Given the description of an element on the screen output the (x, y) to click on. 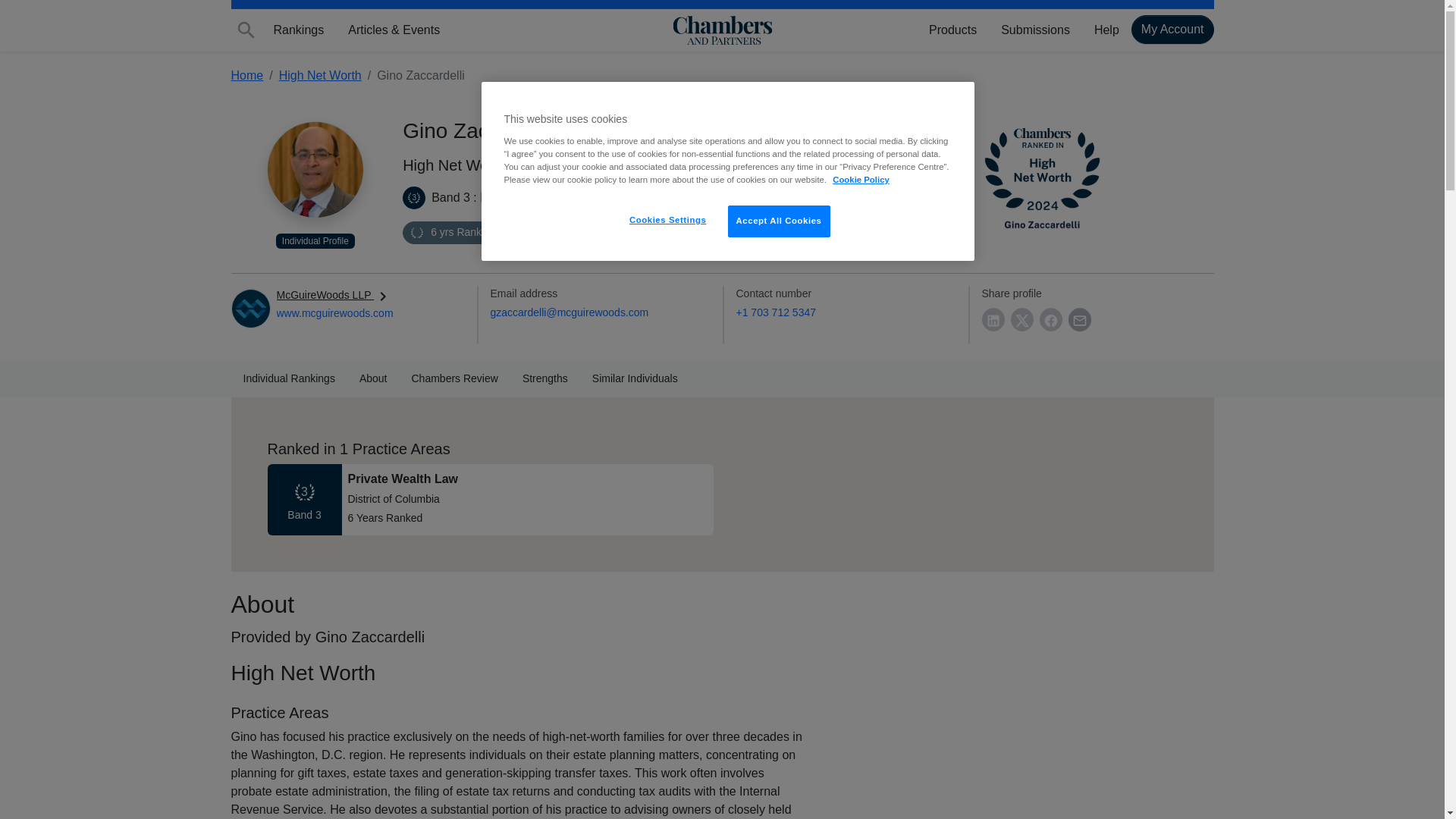
Go to McGuireWoods LLP's page (334, 313)
Go to Individual Rankings section (287, 379)
Products (952, 30)
Go to About section (373, 379)
Gino Zaccardelli (315, 169)
Go to Similar Individuals section (635, 379)
High Net Worth (1088, 176)
Rankings (298, 30)
Share this on X (1021, 319)
Go to Chambers Review section (453, 379)
Share this on LinkedIn (992, 319)
Go to McGuireWoods LLP profile (333, 295)
Share this on Facebook (1050, 319)
Band 3 (414, 197)
Share this via Email (1078, 319)
